Given the description of an element on the screen output the (x, y) to click on. 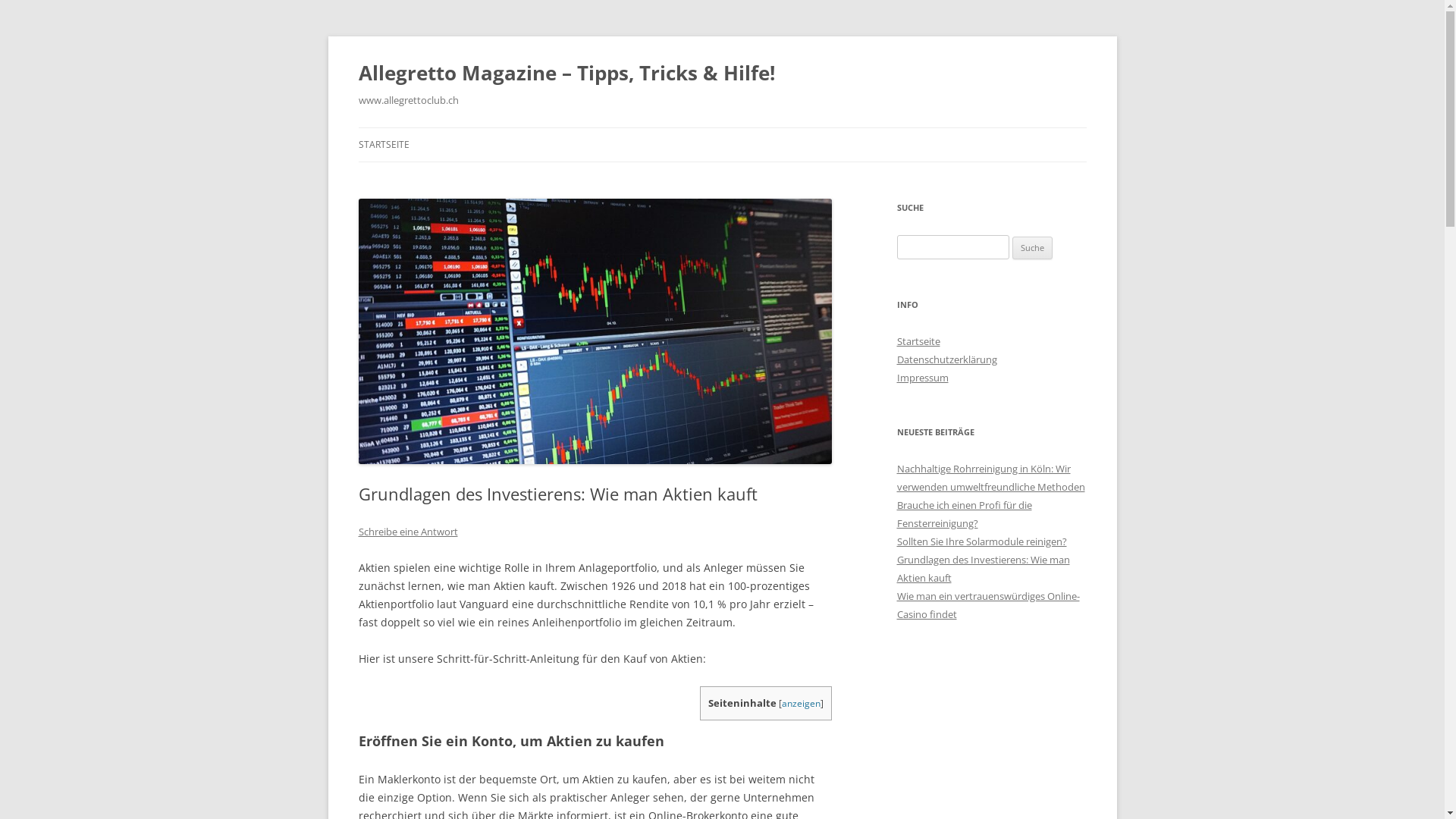
Sollten Sie Ihre Solarmodule reinigen? Element type: text (981, 541)
anzeigen Element type: text (800, 702)
Schreibe eine Antwort Element type: text (407, 531)
Zum Inhalt springen Element type: text (721, 127)
Impressum Element type: text (921, 377)
STARTSEITE Element type: text (382, 144)
Startseite Element type: text (917, 341)
Suche Element type: text (1032, 247)
Grundlagen des Investierens: Wie man Aktien kauft Element type: text (982, 568)
